Given the description of an element on the screen output the (x, y) to click on. 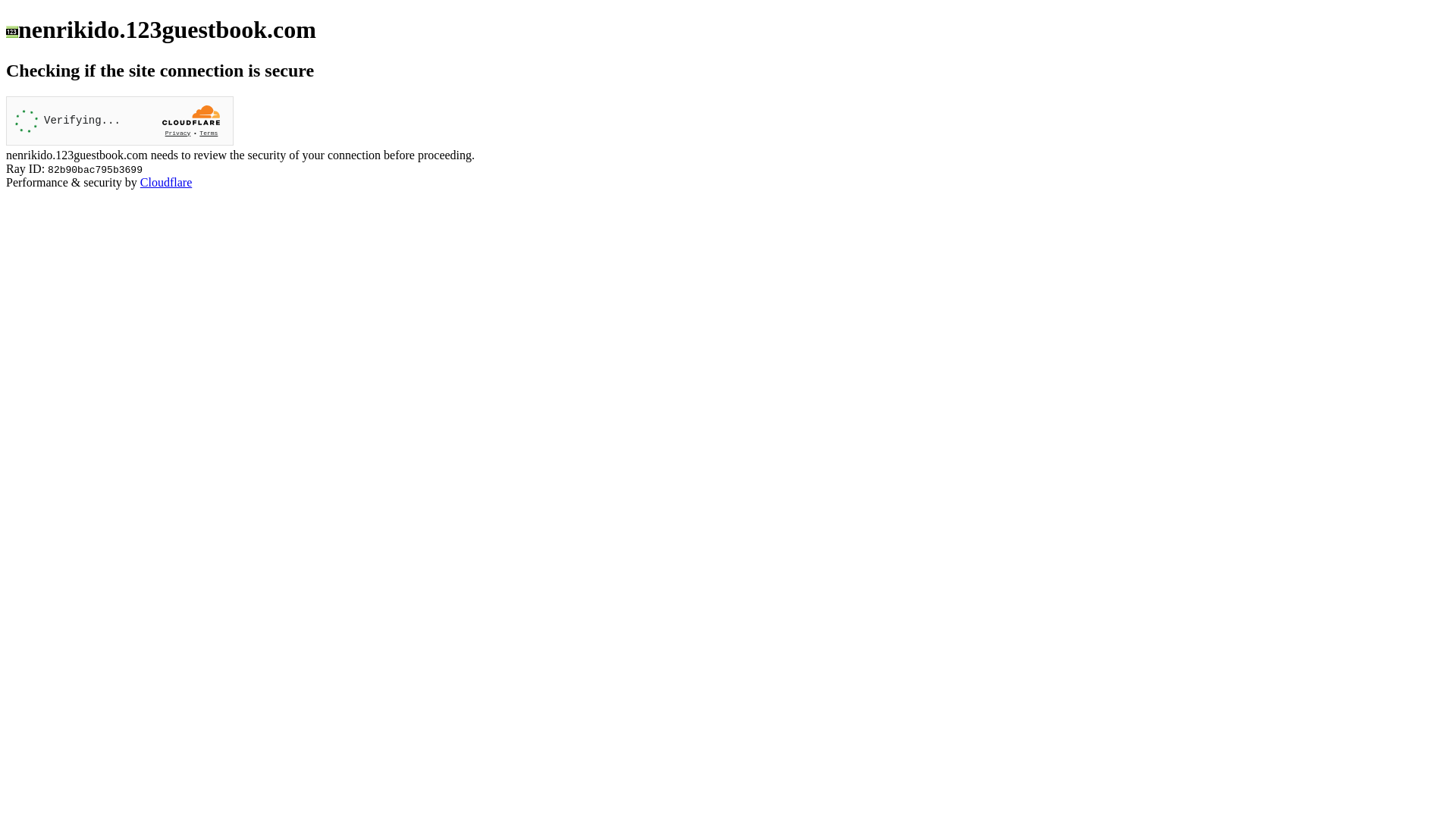
Cloudflare Element type: text (165, 181)
Widget containing a Cloudflare security challenge Element type: hover (119, 120)
